Given the description of an element on the screen output the (x, y) to click on. 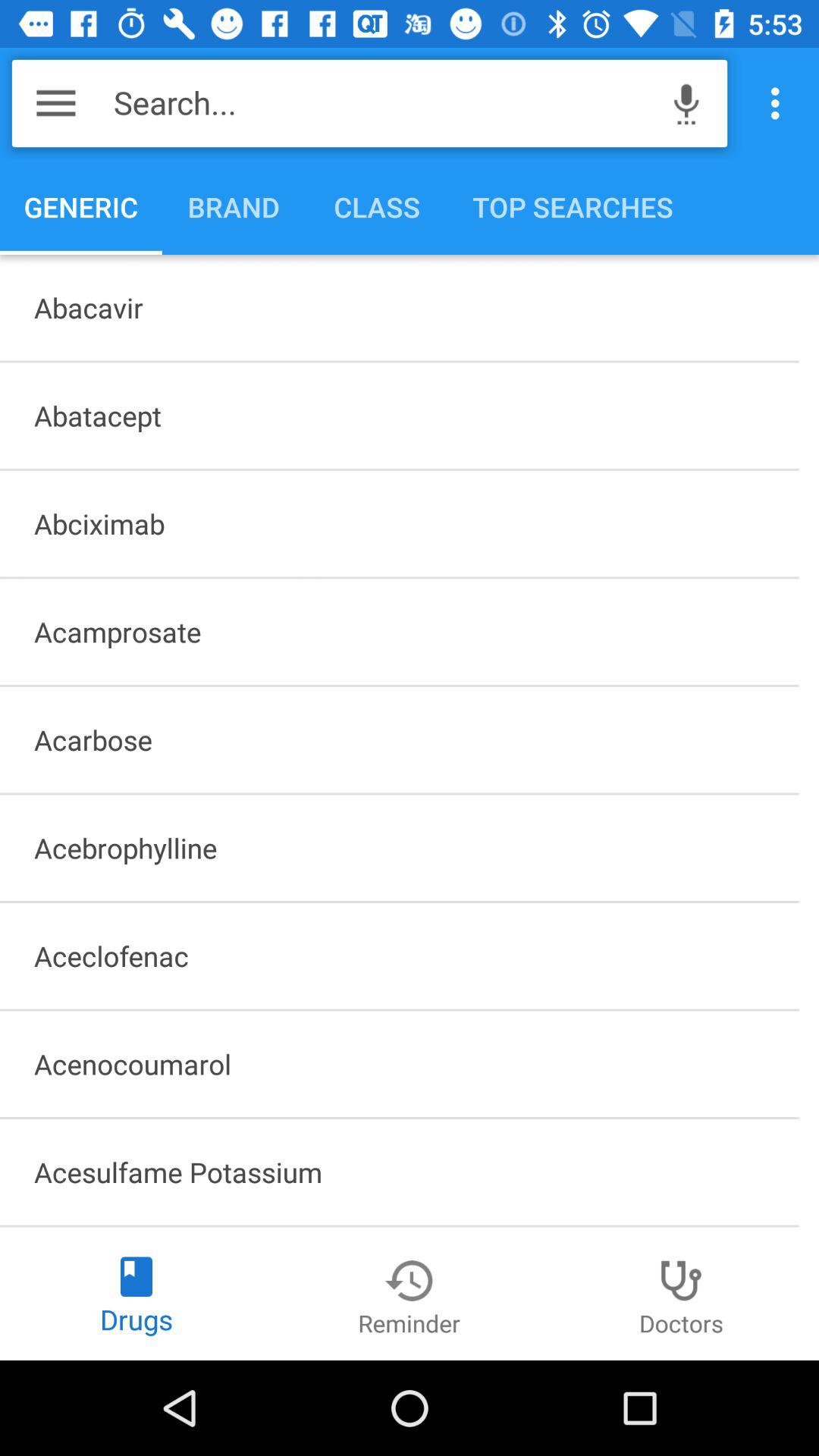
tap acamprosate (399, 631)
